Given the description of an element on the screen output the (x, y) to click on. 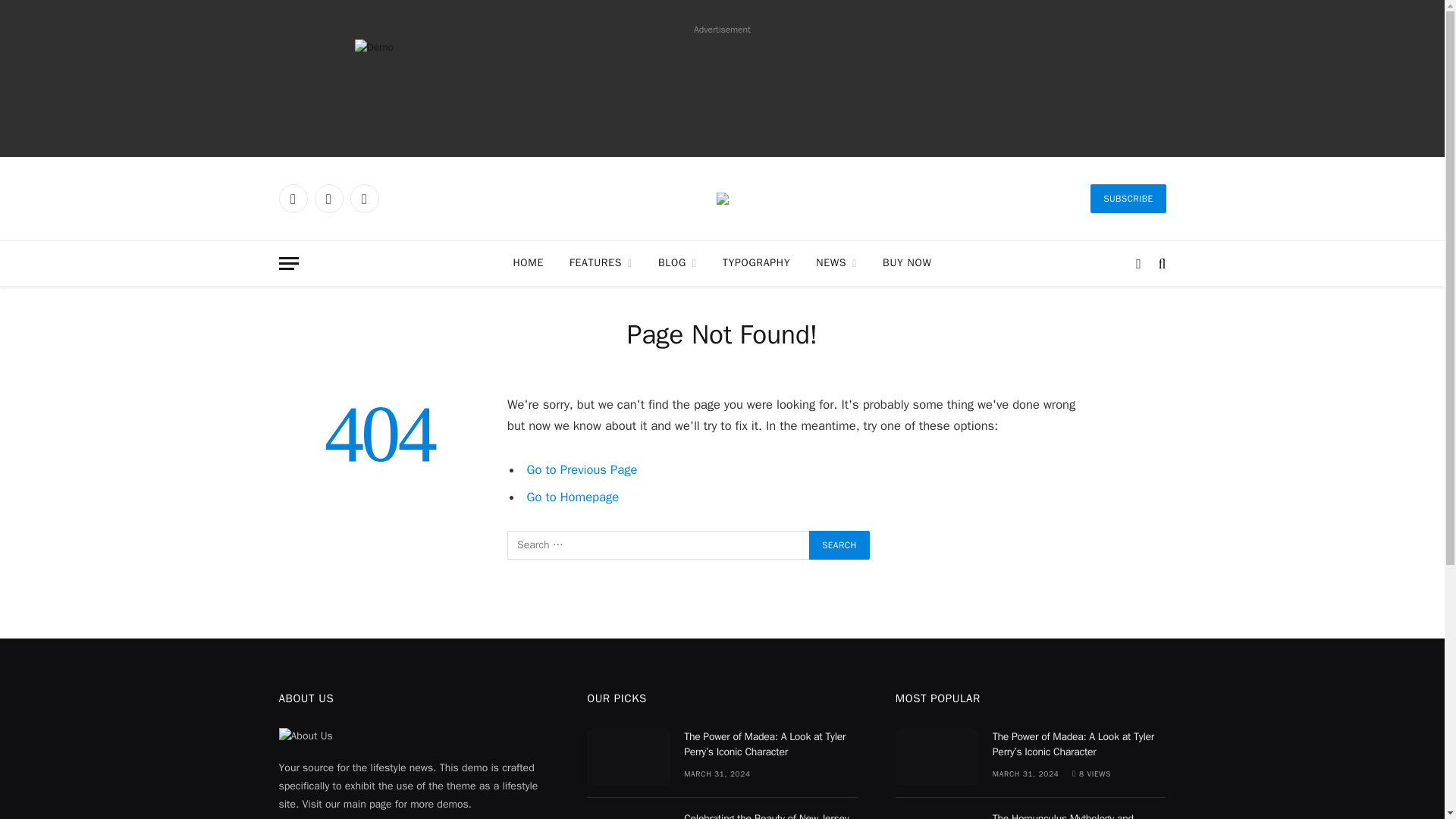
Instagram (364, 198)
8 Article Views (1090, 773)
Search (839, 544)
SUBSCRIBE (1128, 198)
NEWS (836, 262)
Facebook (293, 198)
BLOG (677, 262)
BUY NOW (906, 262)
Search (839, 544)
TYPOGRAPHY (756, 262)
